Given the description of an element on the screen output the (x, y) to click on. 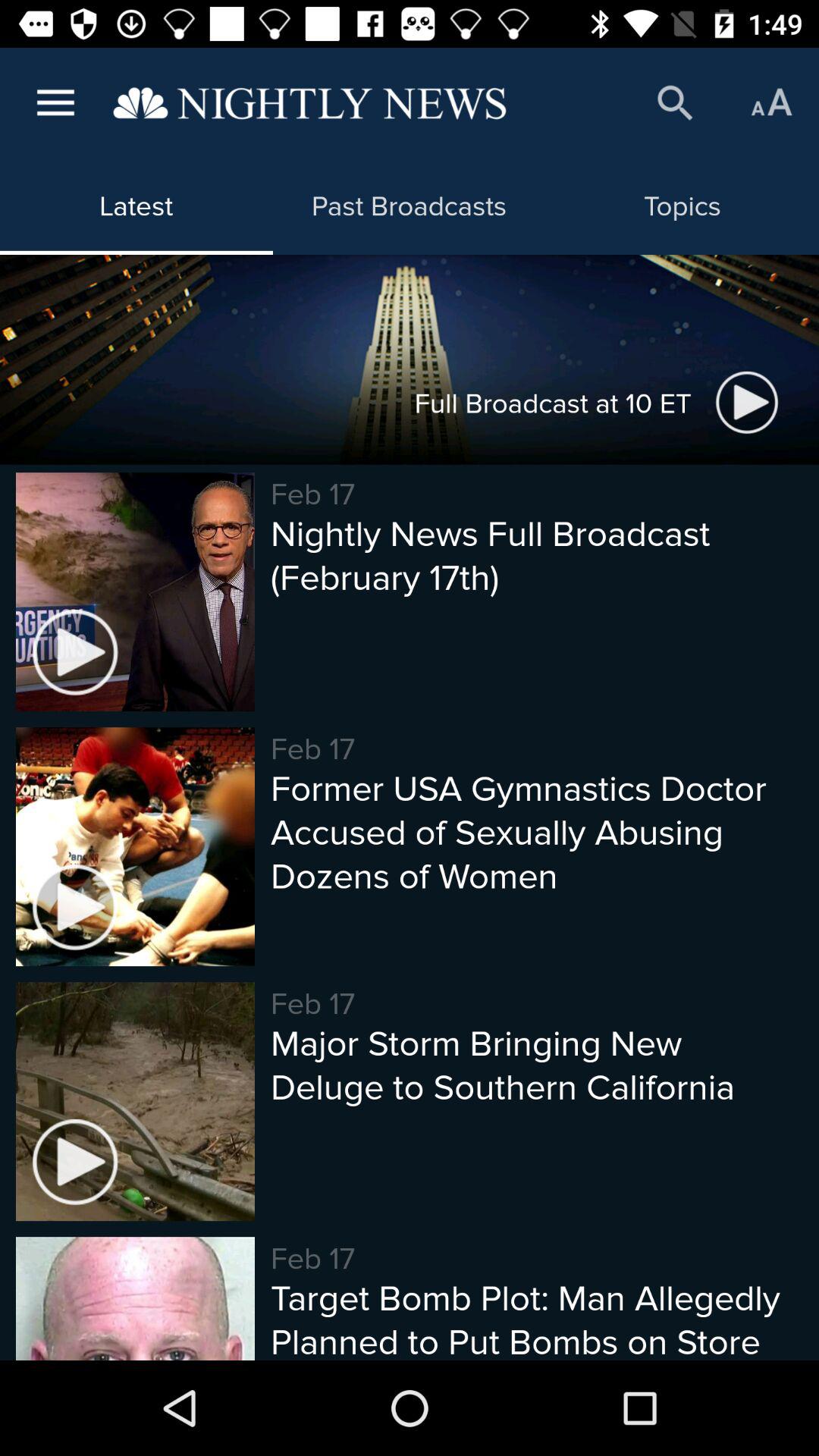
returns back to the fist page of the website (309, 103)
